Given the description of an element on the screen output the (x, y) to click on. 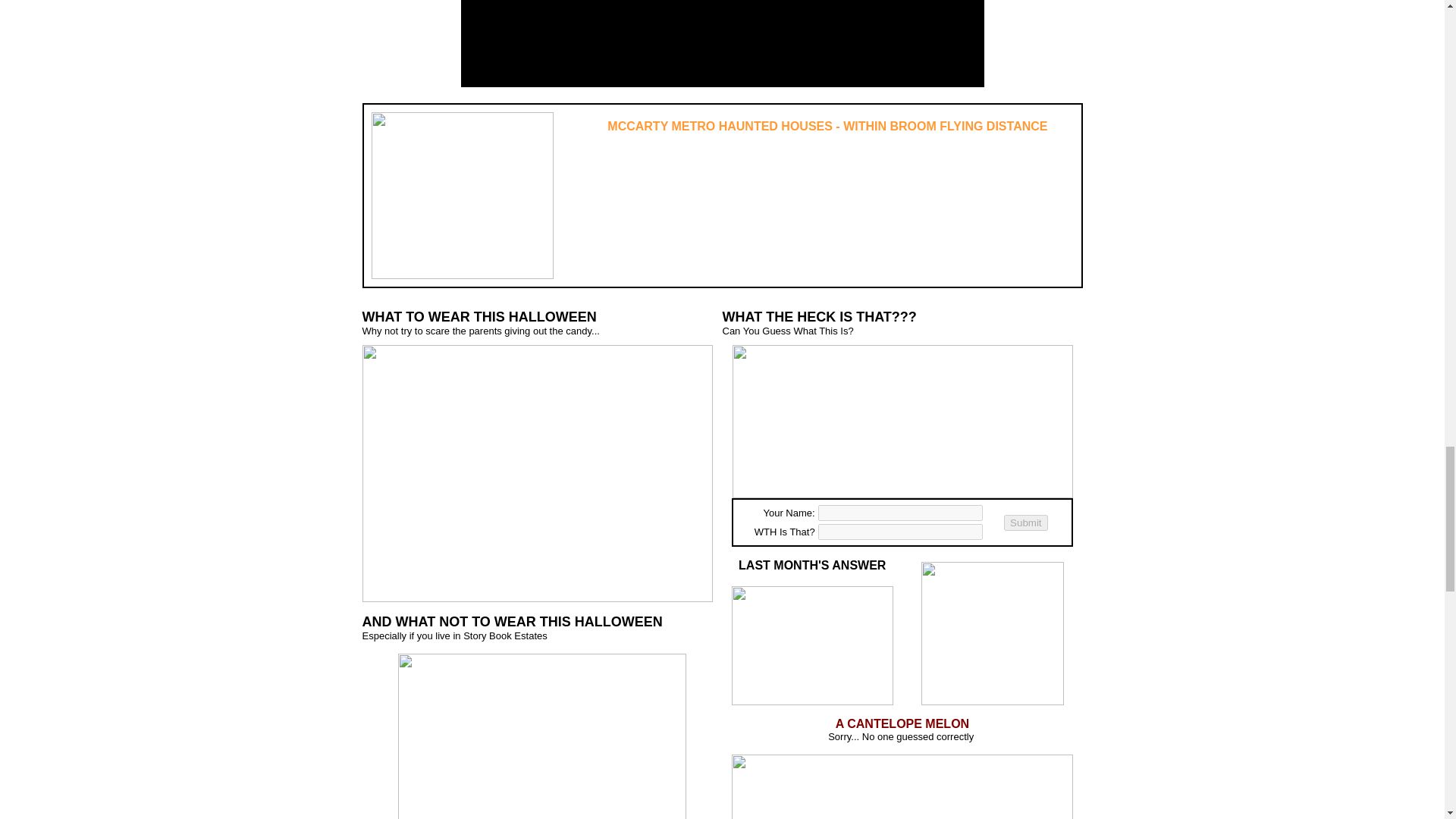
New York (897, 185)
View all posts filed under California (601, 207)
View all posts filed under Alabama (600, 174)
Minnesota (801, 207)
North Carolina (908, 196)
View all posts filed under Florida (595, 253)
View all posts filed under Arkansas (601, 196)
Nevada (795, 241)
Indiana (696, 207)
View all posts filed under Maryland (798, 173)
